Given the description of an element on the screen output the (x, y) to click on. 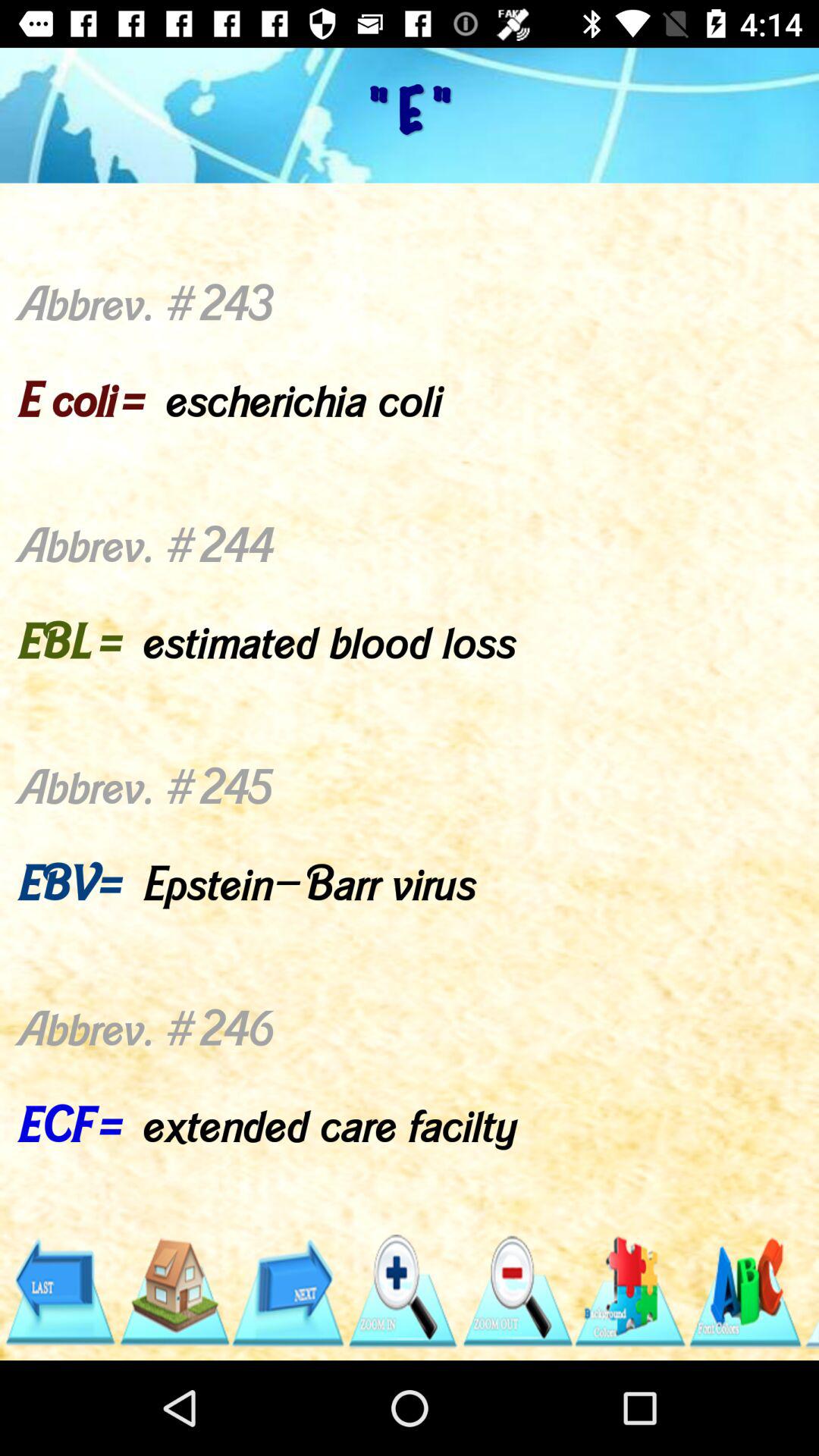
zoom in (402, 1291)
